Given the description of an element on the screen output the (x, y) to click on. 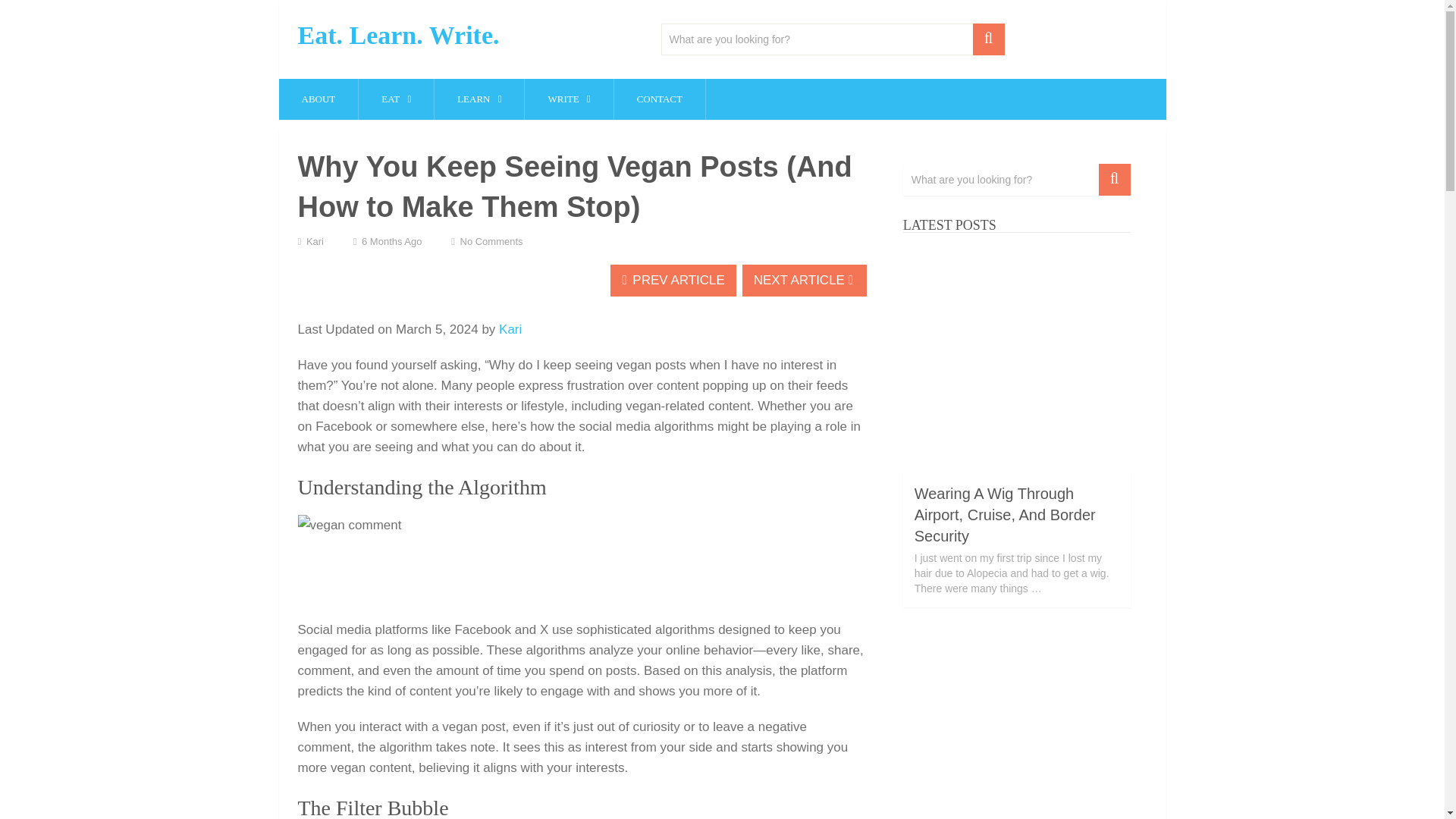
Wearing A Wig Through Airport, Cruise, And Border Security (1005, 514)
ABOUT (318, 98)
Wearing A Wig Through Airport, Cruise, And Border Security (1016, 357)
Our Experience Being Vegan On The Koningsdam Cruise Ship (1016, 724)
Eat. Learn. Write. (398, 35)
LEARN (478, 98)
CONTACT (659, 98)
WRITE (568, 98)
EAT (395, 98)
Posts by Kari (314, 241)
